Given the description of an element on the screen output the (x, y) to click on. 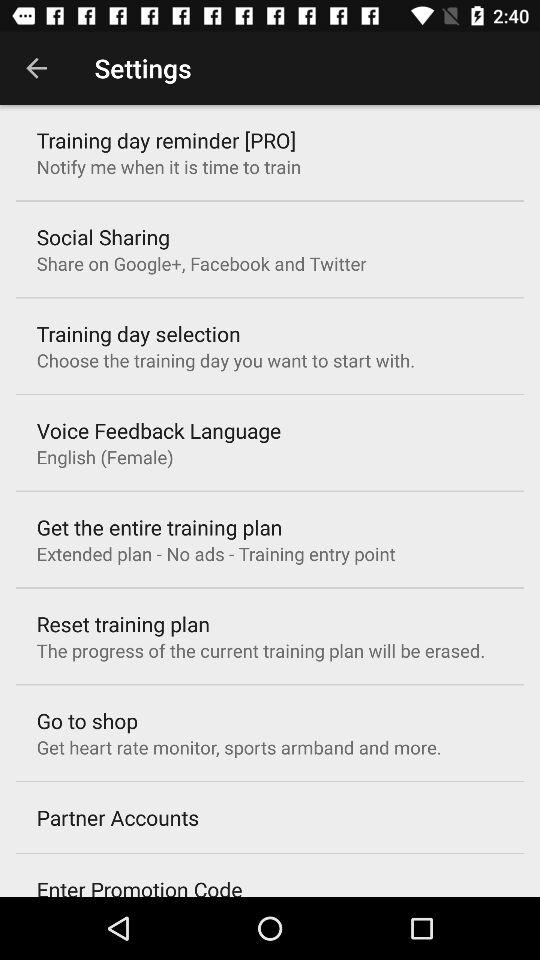
choose the progress of item (260, 650)
